Given the description of an element on the screen output the (x, y) to click on. 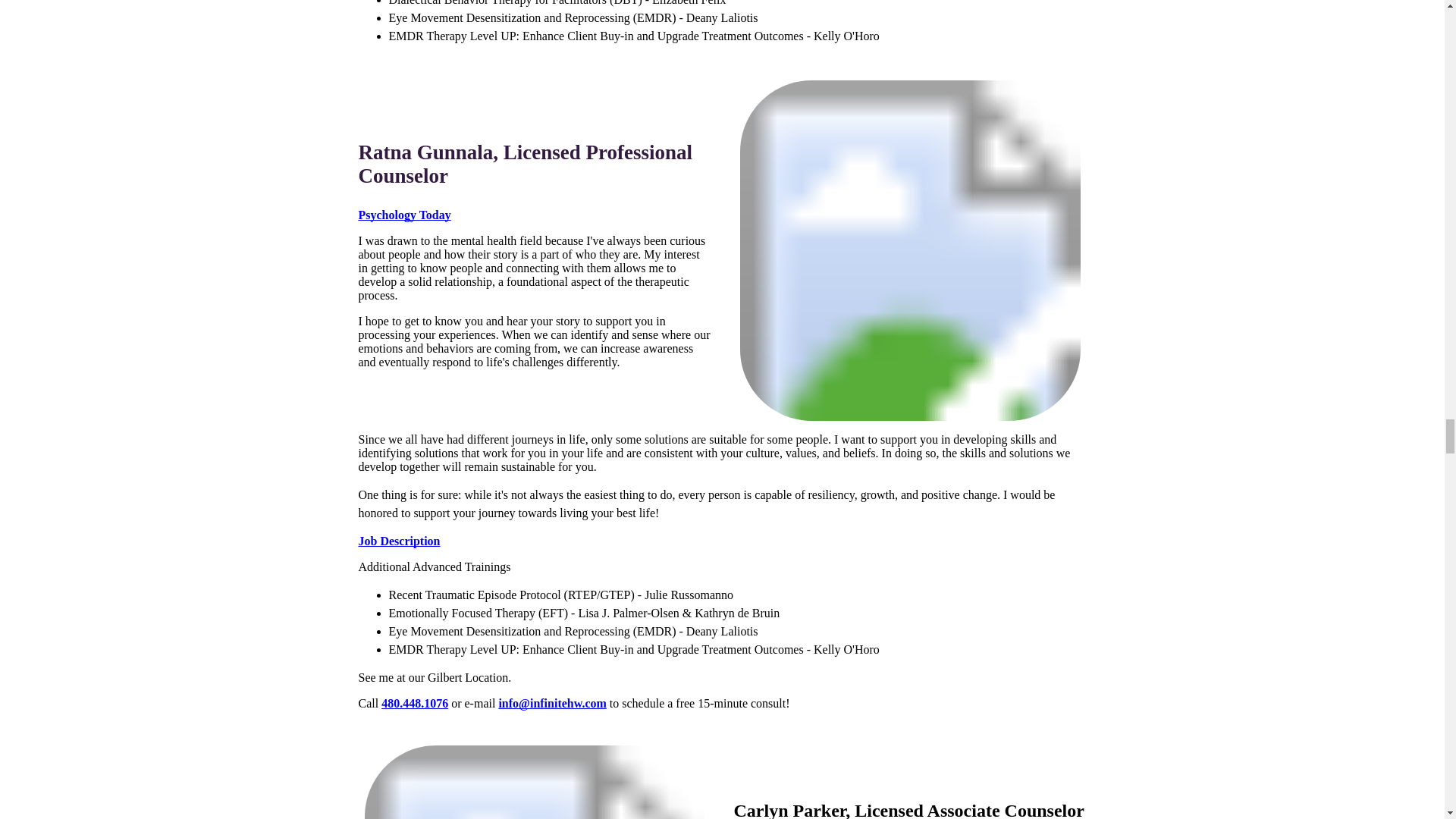
Ratna Gunnala - Phoenix, AZ - Infinite Healing and Wellness (909, 250)
Carlyn Parker - Phoenix, AZ - Infinite Healing and Wellness (534, 782)
